Given the description of an element on the screen output the (x, y) to click on. 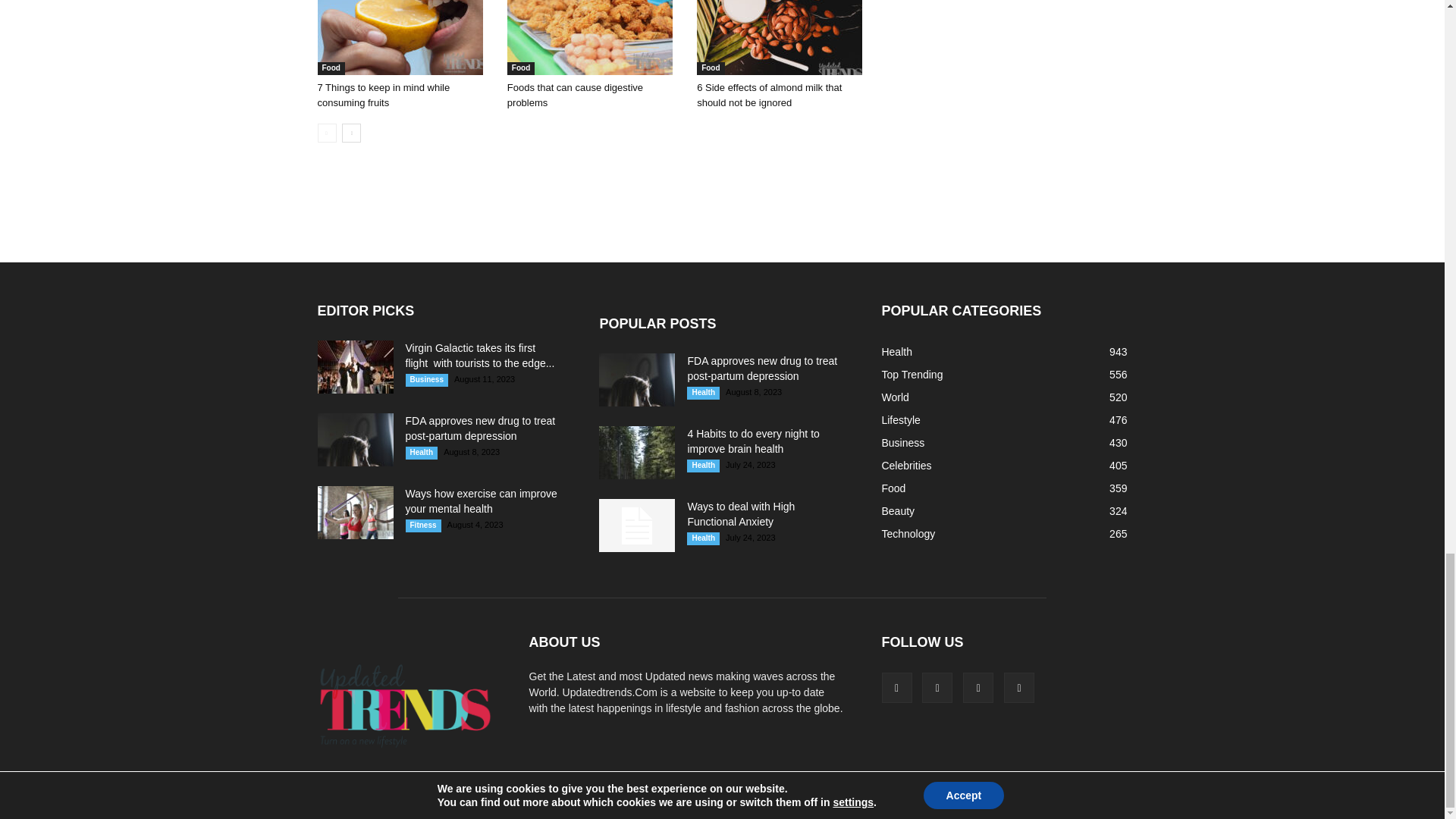
6 Side effects of almond milk that should not be ignored (769, 94)
6 Side effects of almond milk that should not be ignored (779, 37)
6 Side effects of almond milk that should not be ignored (783, 37)
Foods that can cause digestive problems (589, 37)
7 Things to keep in mind while consuming fruits (399, 37)
Foods that can cause digestive problems (593, 37)
7 Things to keep in mind while consuming fruits (403, 37)
7 Things to keep in mind while consuming fruits (383, 94)
Foods that can cause digestive problems (574, 94)
